Given the description of an element on the screen output the (x, y) to click on. 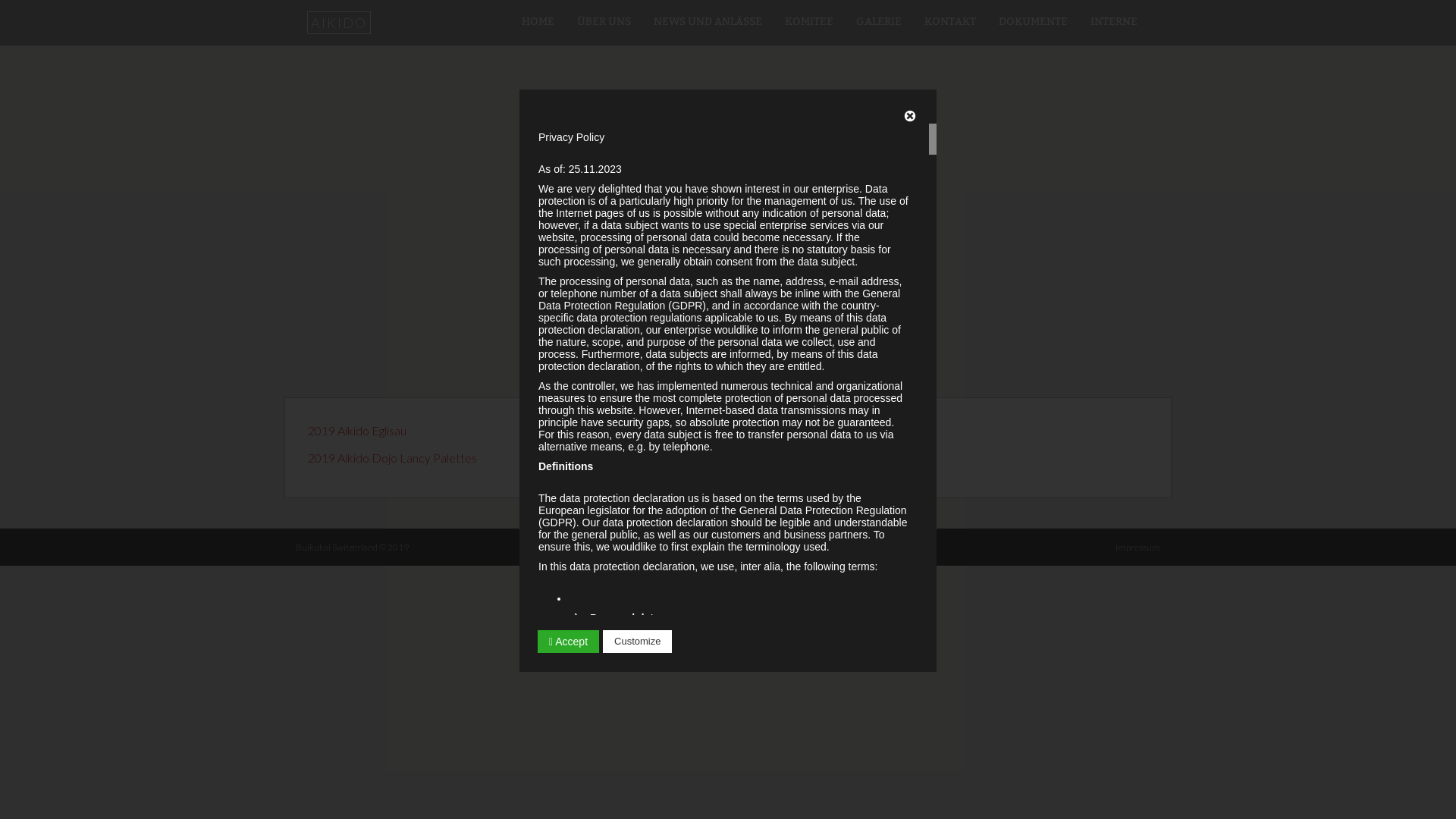
GALERIE Element type: text (878, 16)
KOMITEE Element type: text (808, 16)
INTERNE Element type: text (1113, 16)
HOME Element type: text (537, 16)
Customize Element type: text (636, 641)
2019 Aikido Dojo Lancy Palettes Element type: text (391, 457)
DOKUMENTE Element type: text (1033, 16)
2019 Aikido Eglisau Element type: text (356, 430)
KONTAKT Element type: text (949, 16)
AIKIDO Element type: text (338, 22)
Impressum Element type: text (1137, 546)
